Given the description of an element on the screen output the (x, y) to click on. 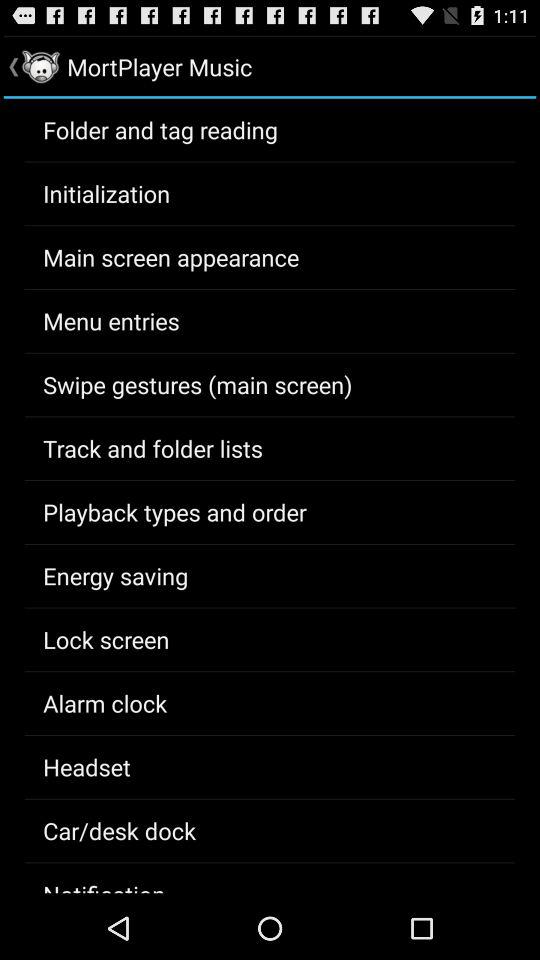
scroll until menu entries icon (111, 320)
